Given the description of an element on the screen output the (x, y) to click on. 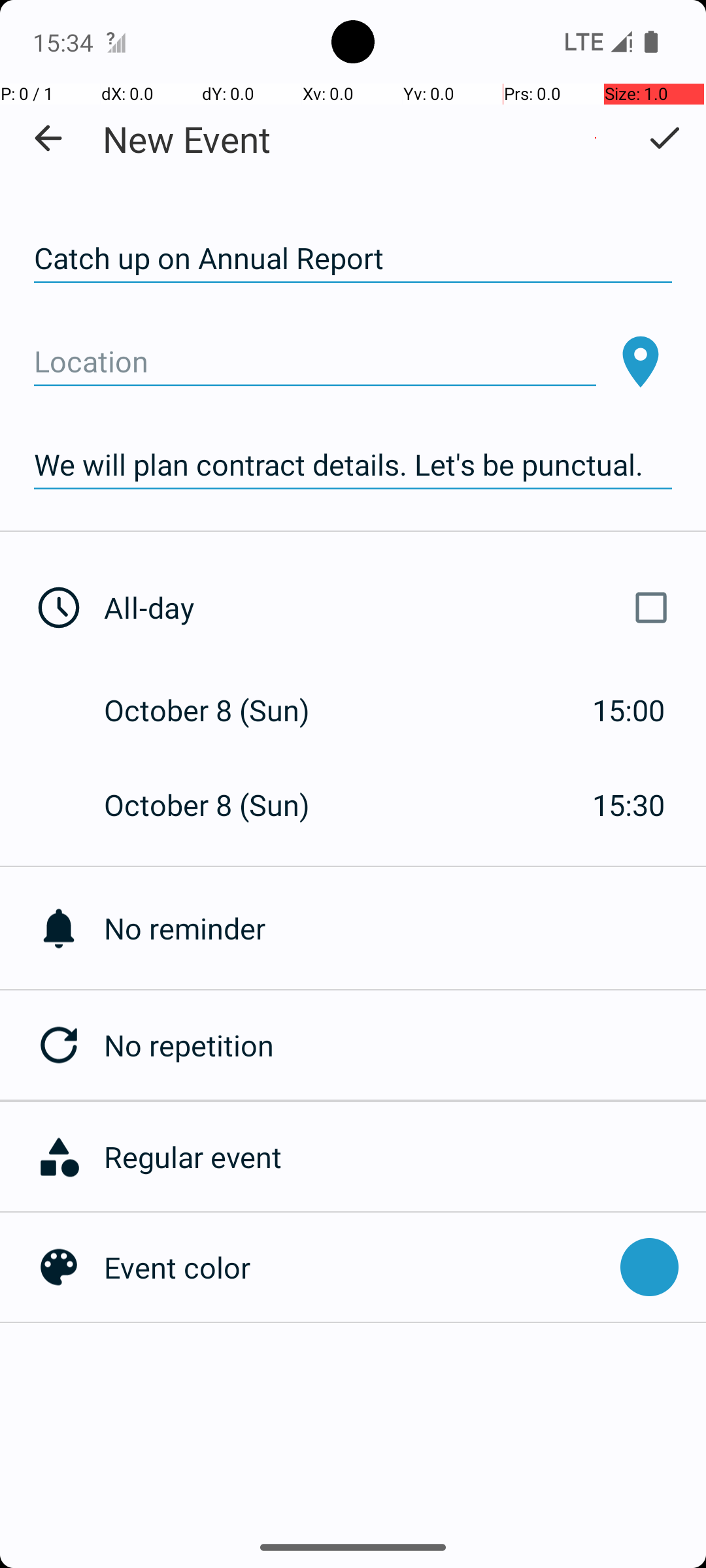
We will plan contract details. Let's be punctual. Element type: android.widget.EditText (352, 465)
October 8 (Sun) Element type: android.widget.TextView (220, 709)
15:00 Element type: android.widget.TextView (628, 709)
15:30 Element type: android.widget.TextView (628, 804)
